Given the description of an element on the screen output the (x, y) to click on. 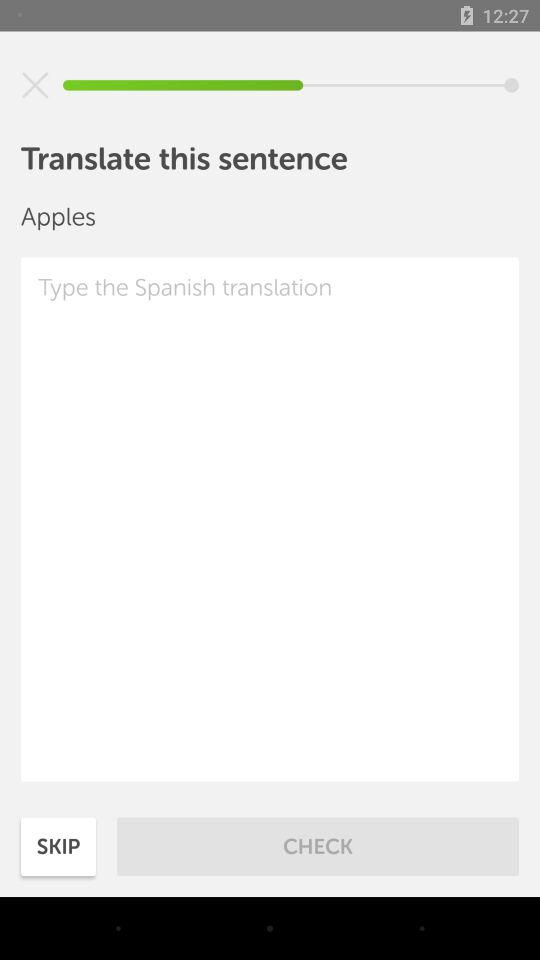
hit the x (35, 85)
